Given the description of an element on the screen output the (x, y) to click on. 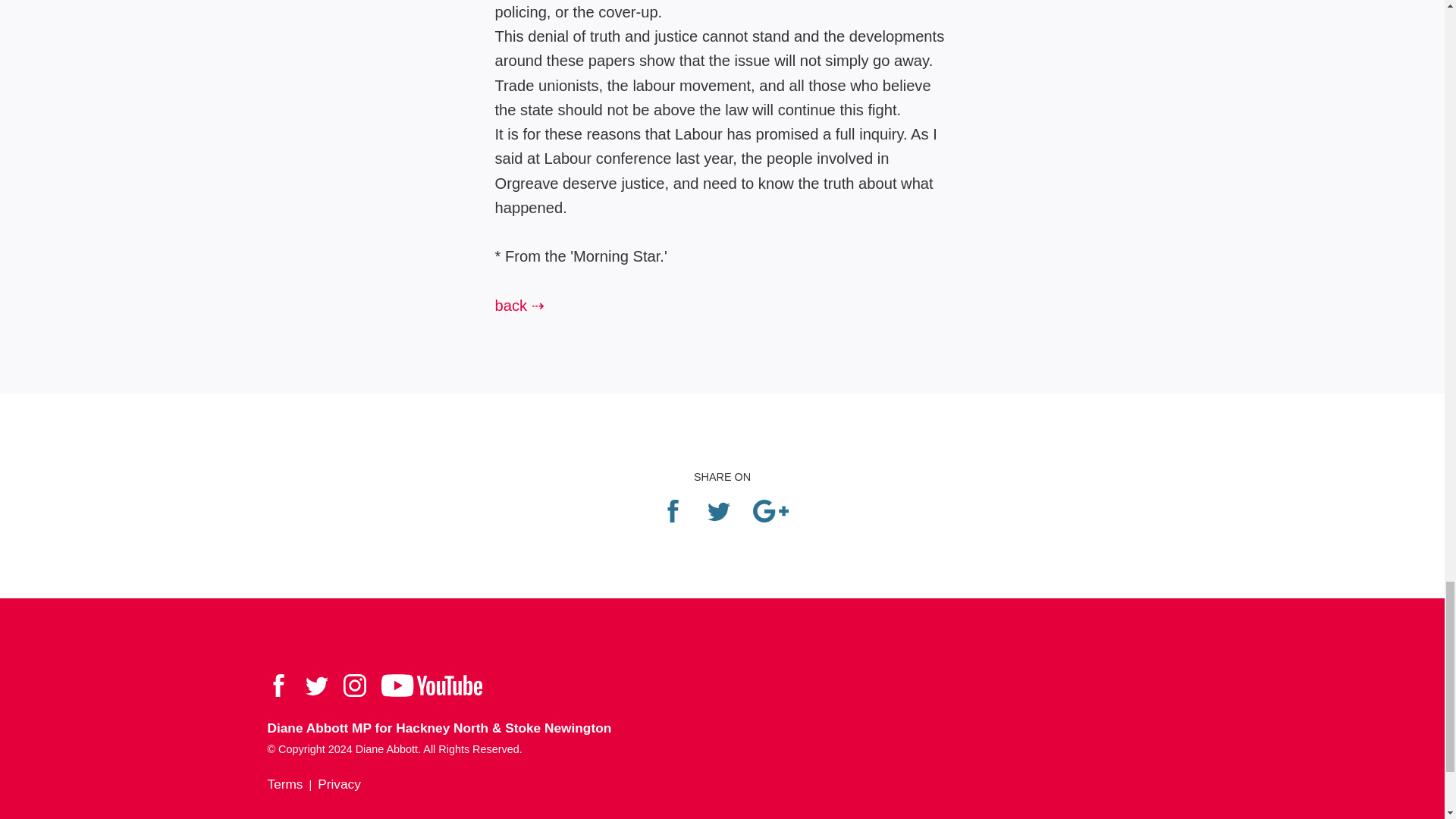
Join the conversation on Twitter (315, 693)
Watch us on YouTube (430, 693)
Share On twitter (717, 519)
Terms (284, 783)
Share on facebook (672, 519)
Find us on facebook (277, 693)
View our Instagram page (353, 693)
Privacy (339, 783)
